Given the description of an element on the screen output the (x, y) to click on. 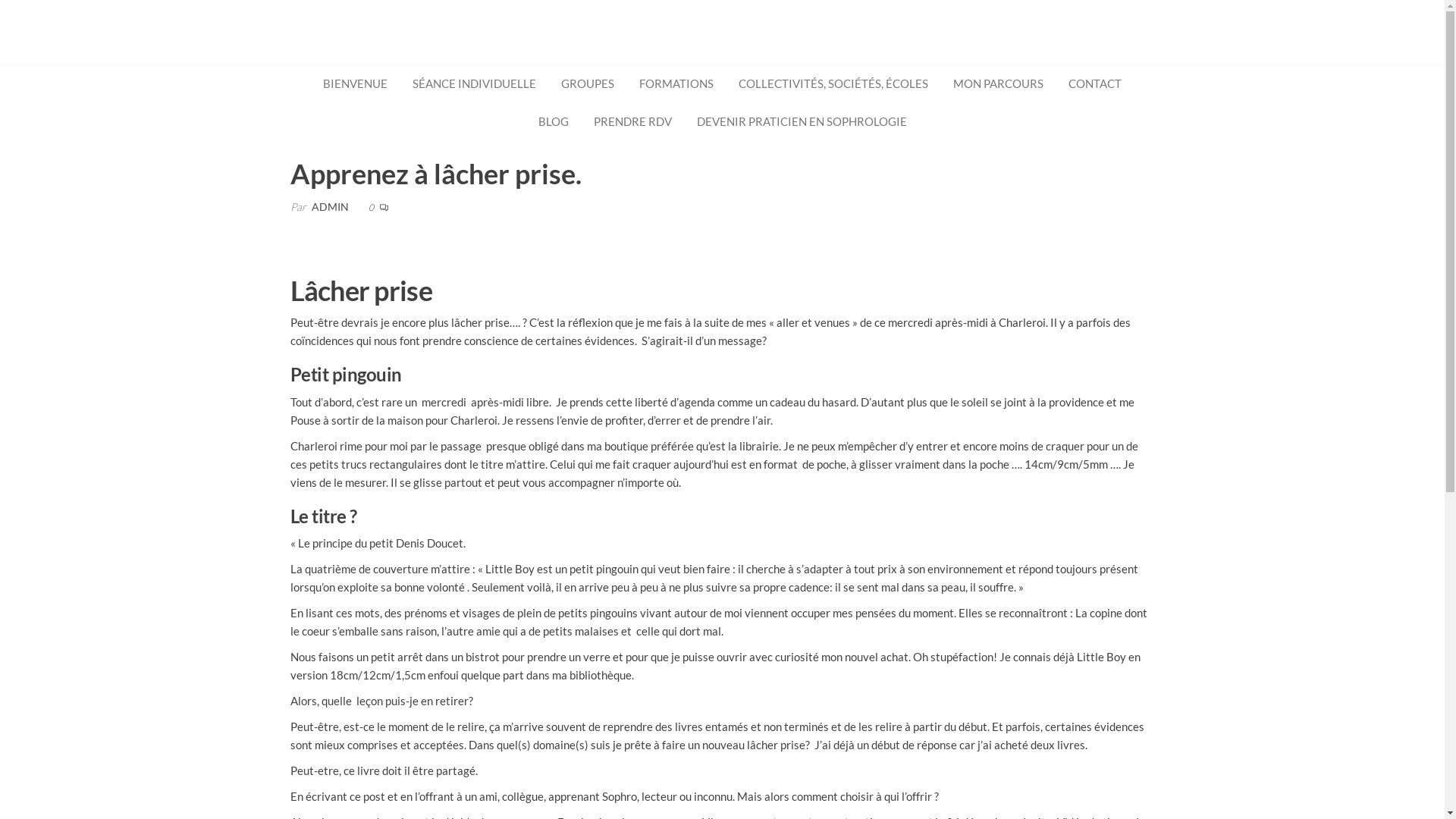
PRENDRE RDV Element type: text (632, 121)
CONTACT Element type: text (1094, 83)
DEVENIR PRATICIEN EN SOPHROLOGIE Element type: text (801, 121)
BIENVENUE Element type: text (354, 83)
MON PARCOURS Element type: text (997, 83)
BLOG Element type: text (552, 121)
FORMATIONS Element type: text (675, 83)
GROUPES Element type: text (587, 83)
0 Element type: text (371, 207)
ADMIN Element type: text (329, 206)
